Given the description of an element on the screen output the (x, y) to click on. 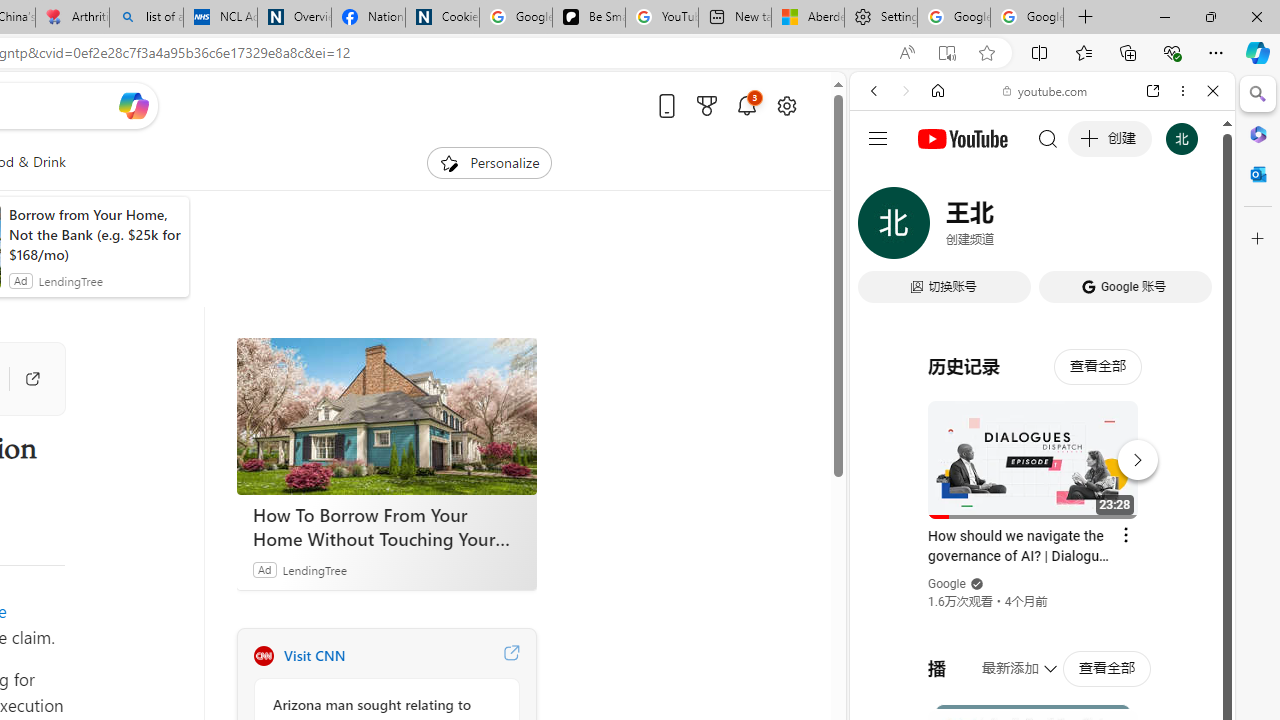
Be Smart | creating Science videos | Patreon (588, 17)
Aberdeen, Hong Kong SAR hourly forecast | Microsoft Weather (807, 17)
This site scope (936, 180)
